Given the description of an element on the screen output the (x, y) to click on. 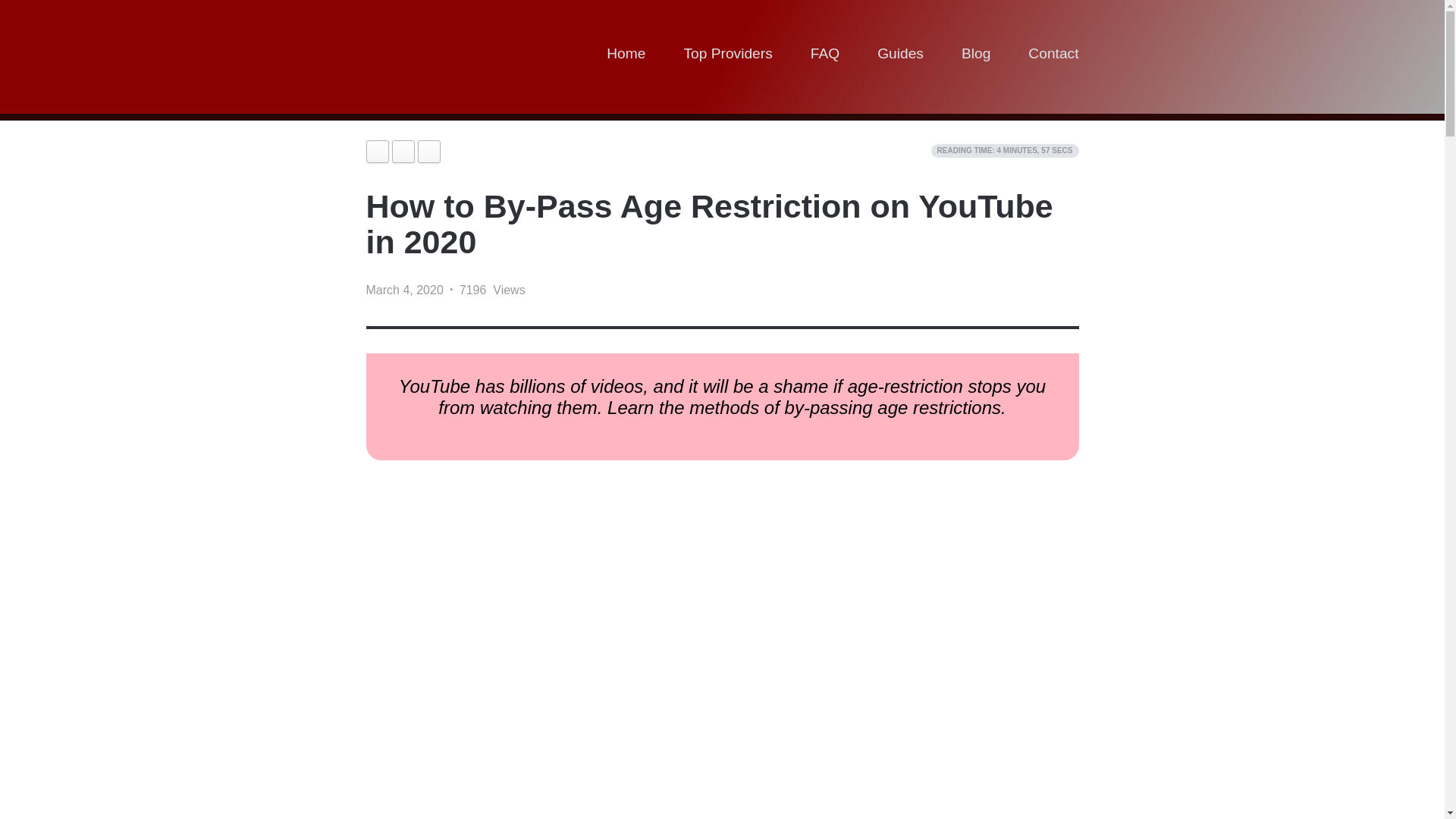
Home (626, 55)
Blog (975, 55)
Top Providers (726, 55)
Guides (900, 55)
Contact (1052, 55)
FAQ (825, 55)
